Given the description of an element on the screen output the (x, y) to click on. 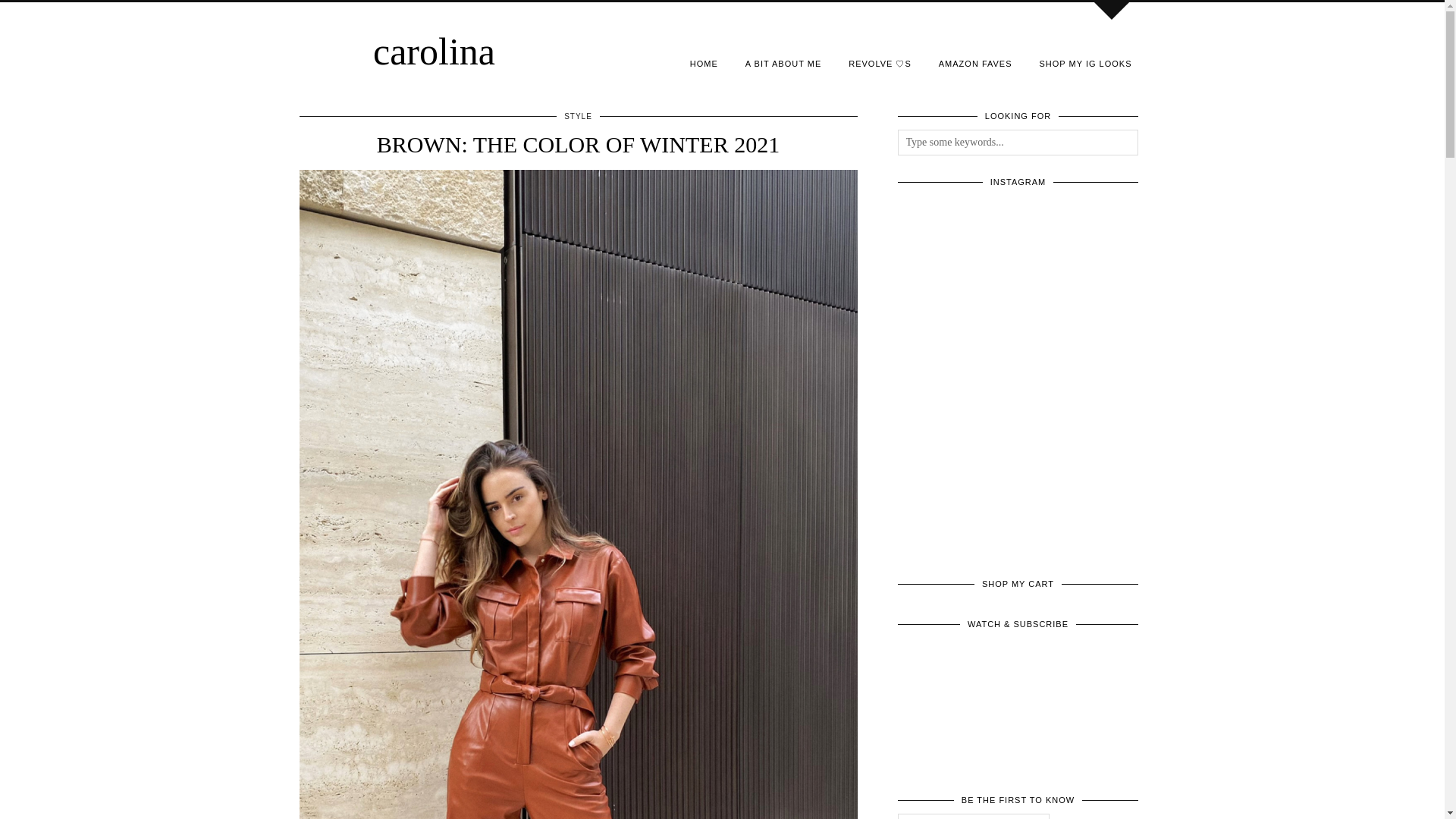
carolina (433, 51)
SHOP MY IG LOOKS (1085, 63)
STYLE (578, 116)
HOME (704, 63)
A BIT ABOUT ME (783, 63)
BROWN: THE COLOR OF WINTER 2021 (577, 144)
AMAZON FAVES (975, 63)
carolina (433, 51)
